Given the description of an element on the screen output the (x, y) to click on. 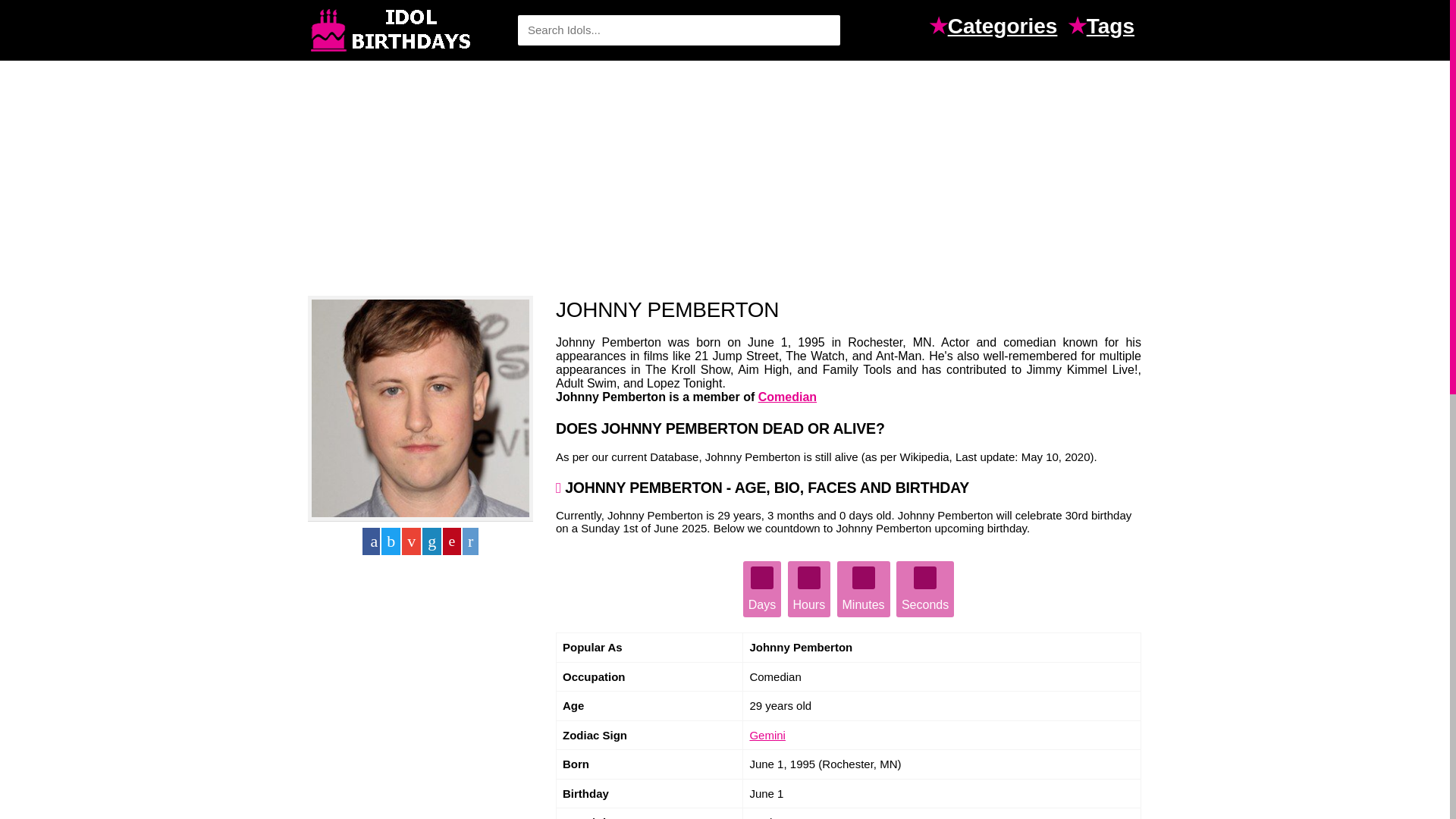
Tags (1113, 28)
Johnny Pemberton (420, 407)
Categories (1006, 28)
SEARCH (820, 30)
Tags (1113, 28)
